Given the description of an element on the screen output the (x, y) to click on. 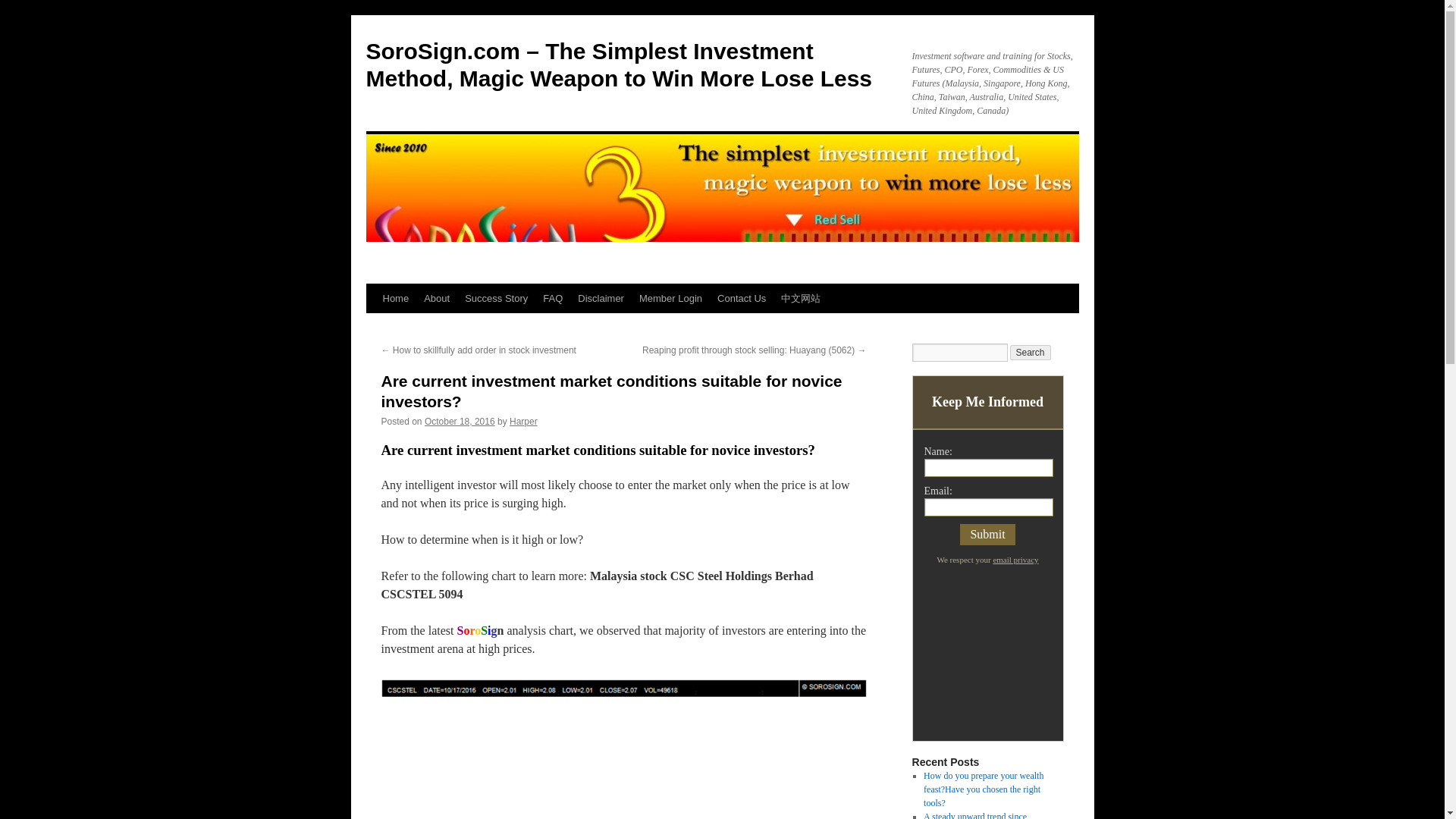
Skip to content (372, 326)
Search (1030, 352)
Home (395, 298)
Member Login (670, 298)
Contact Us (741, 298)
View all posts by Harper (523, 421)
October 18, 2016 (460, 421)
Privacy Policy (1015, 559)
Malaysia stock CSC Steel Holdings Berhad CSCSTEL 5094 (623, 749)
Skip to content (372, 326)
About (436, 298)
Success Story (496, 298)
3:00 pm (460, 421)
Harper (523, 421)
Submit (986, 534)
